Given the description of an element on the screen output the (x, y) to click on. 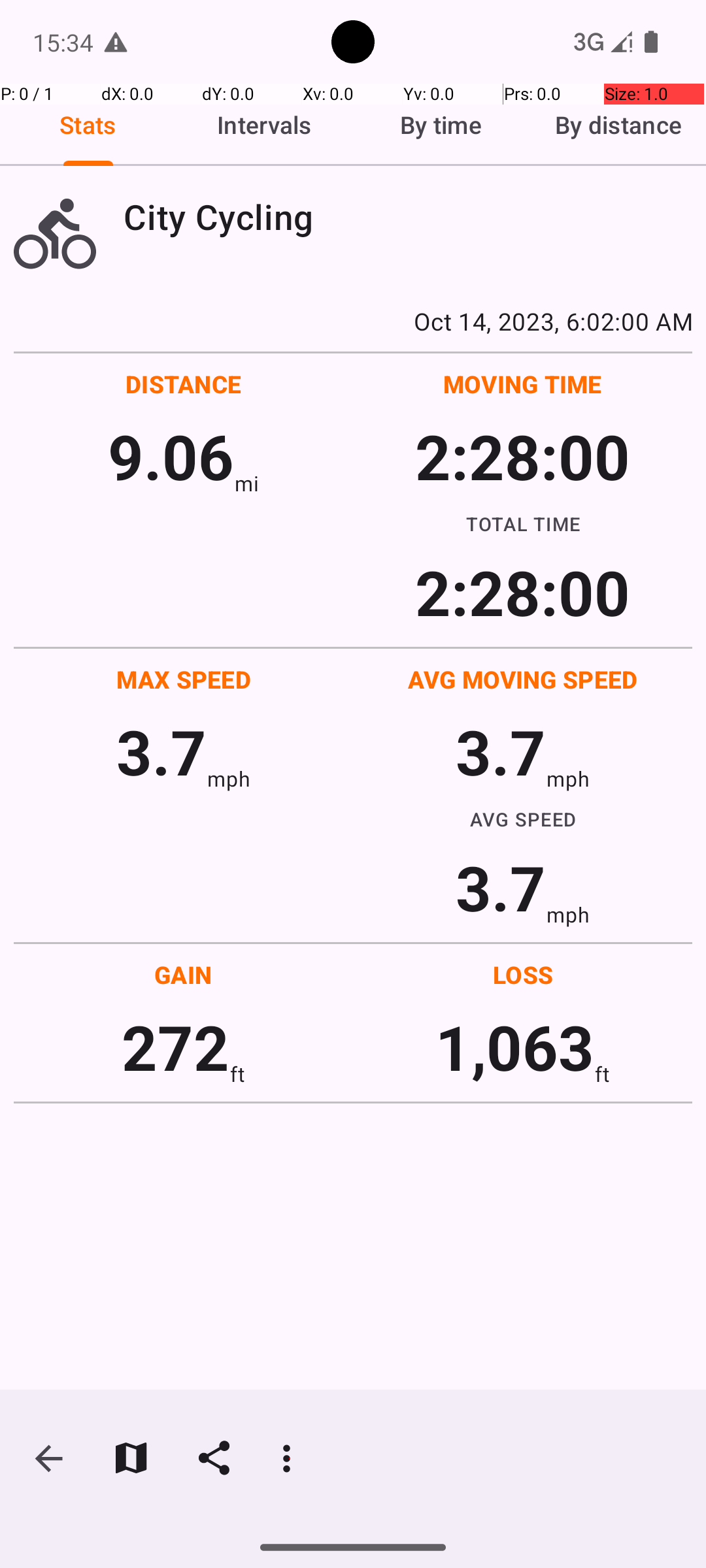
City Cycling Element type: android.widget.TextView (407, 216)
Oct 14, 2023, 6:02:00 AM Element type: android.widget.TextView (352, 320)
9.06 Element type: android.widget.TextView (170, 455)
2:28:00 Element type: android.widget.TextView (522, 455)
3.7 Element type: android.widget.TextView (161, 750)
272 Element type: android.widget.TextView (175, 1045)
1,063 Element type: android.widget.TextView (514, 1045)
